Given the description of an element on the screen output the (x, y) to click on. 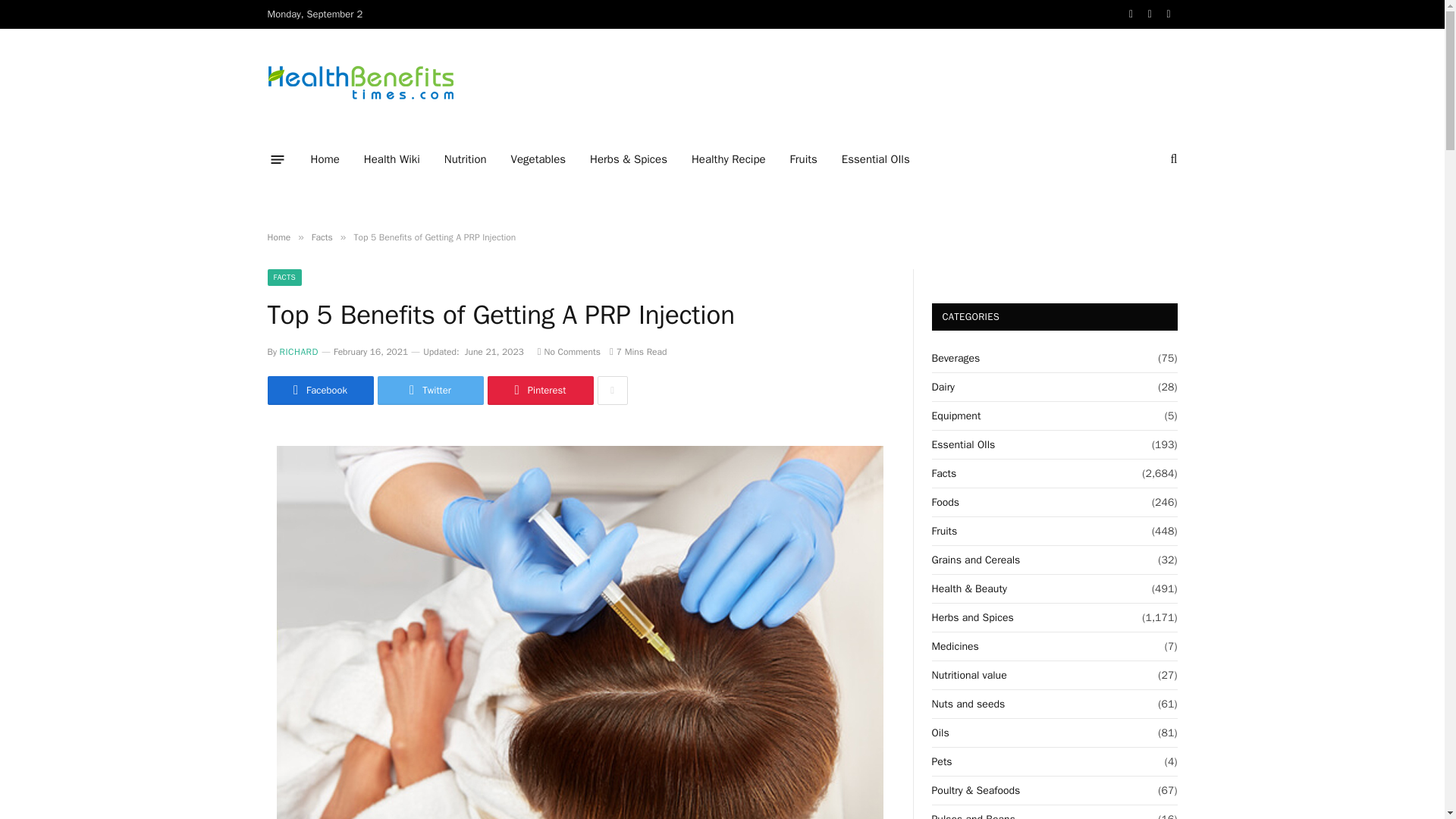
RICHARD (298, 351)
Healthy Recipe (728, 159)
Home (325, 159)
Nutrition (465, 159)
No Comments (568, 351)
Posts by Richard (298, 351)
Health Benefits (359, 83)
Twitter (430, 389)
Home (277, 236)
Facebook (319, 389)
